Given the description of an element on the screen output the (x, y) to click on. 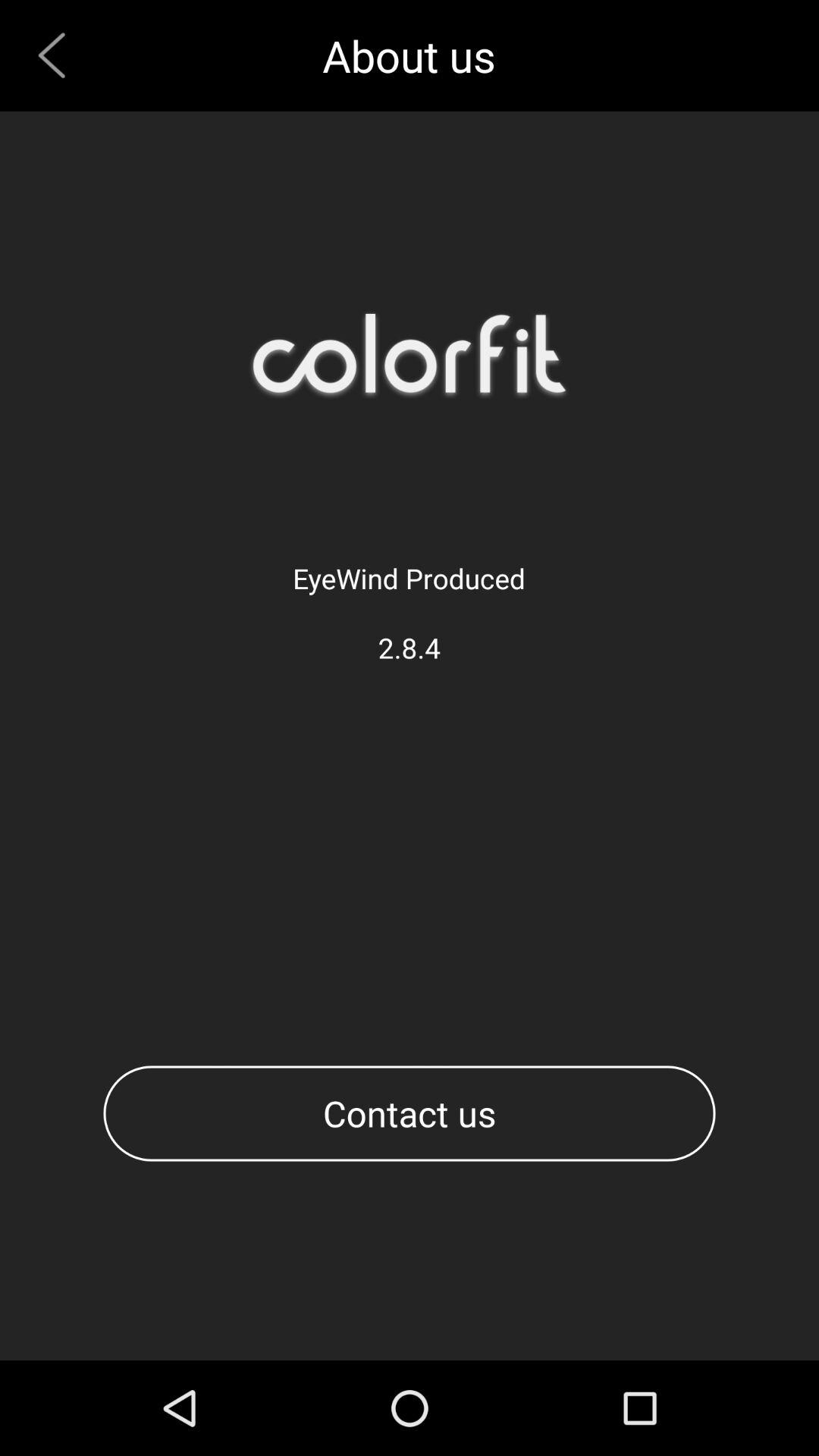
turn on the contact us icon (409, 1113)
